Given the description of an element on the screen output the (x, y) to click on. 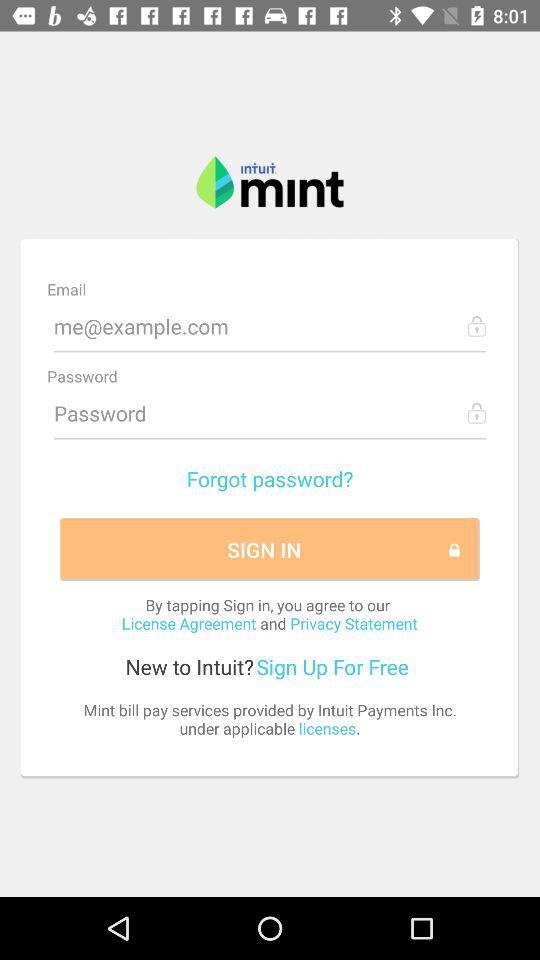
enter password (270, 413)
